Given the description of an element on the screen output the (x, y) to click on. 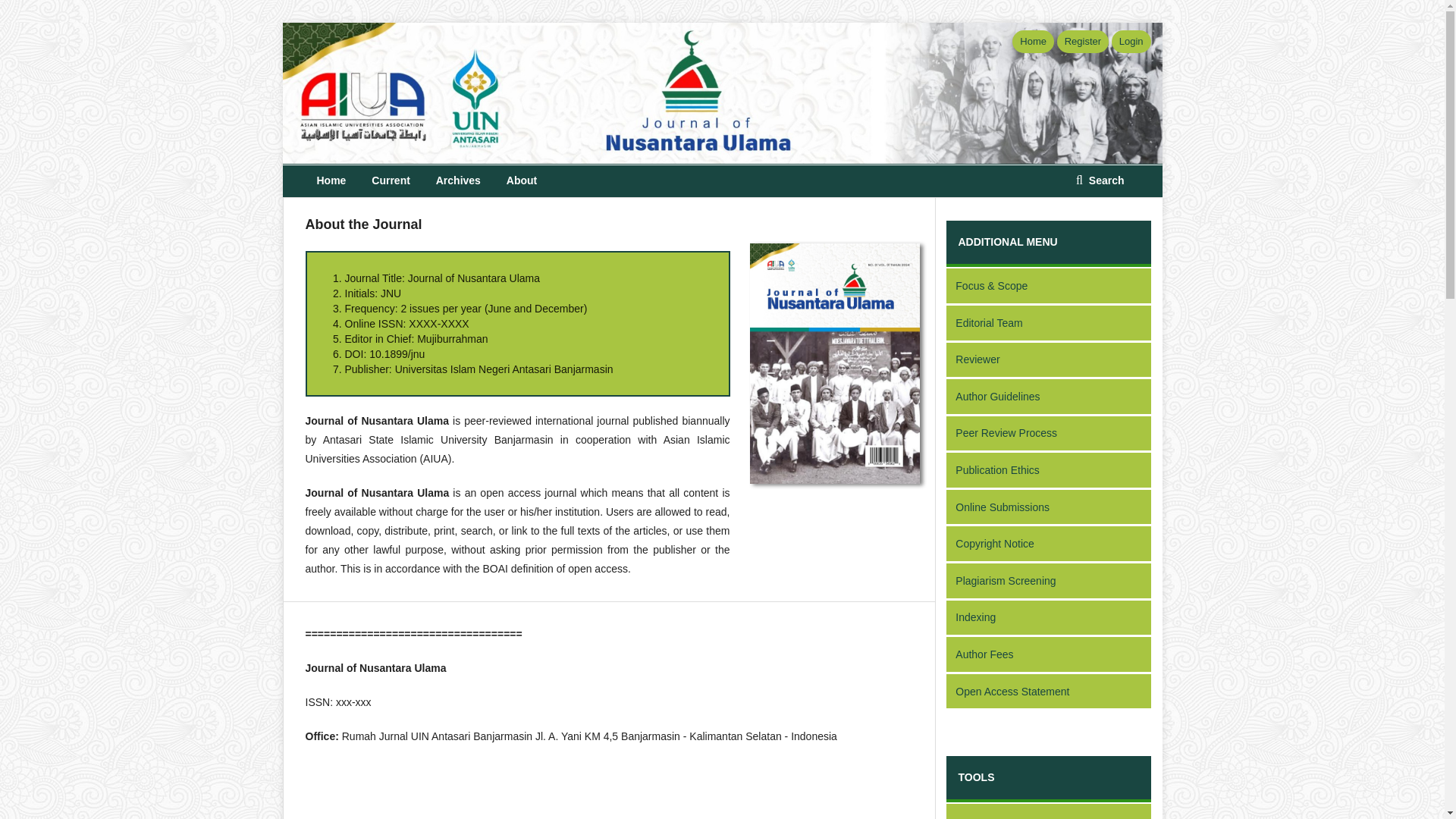
Open Access Statement (1048, 692)
Author Fees (1048, 655)
Reviewer (1048, 361)
Home (1032, 41)
Author Guidelines (1048, 397)
Search (1100, 180)
Publication Ethics (1048, 470)
Online Submissions (1048, 508)
Editorial Team (1048, 324)
Login (1131, 41)
Peer Review Process (1048, 434)
Archives (458, 181)
Home (330, 181)
Plagiarism Screening (1048, 581)
Register (1082, 41)
